Given the description of an element on the screen output the (x, y) to click on. 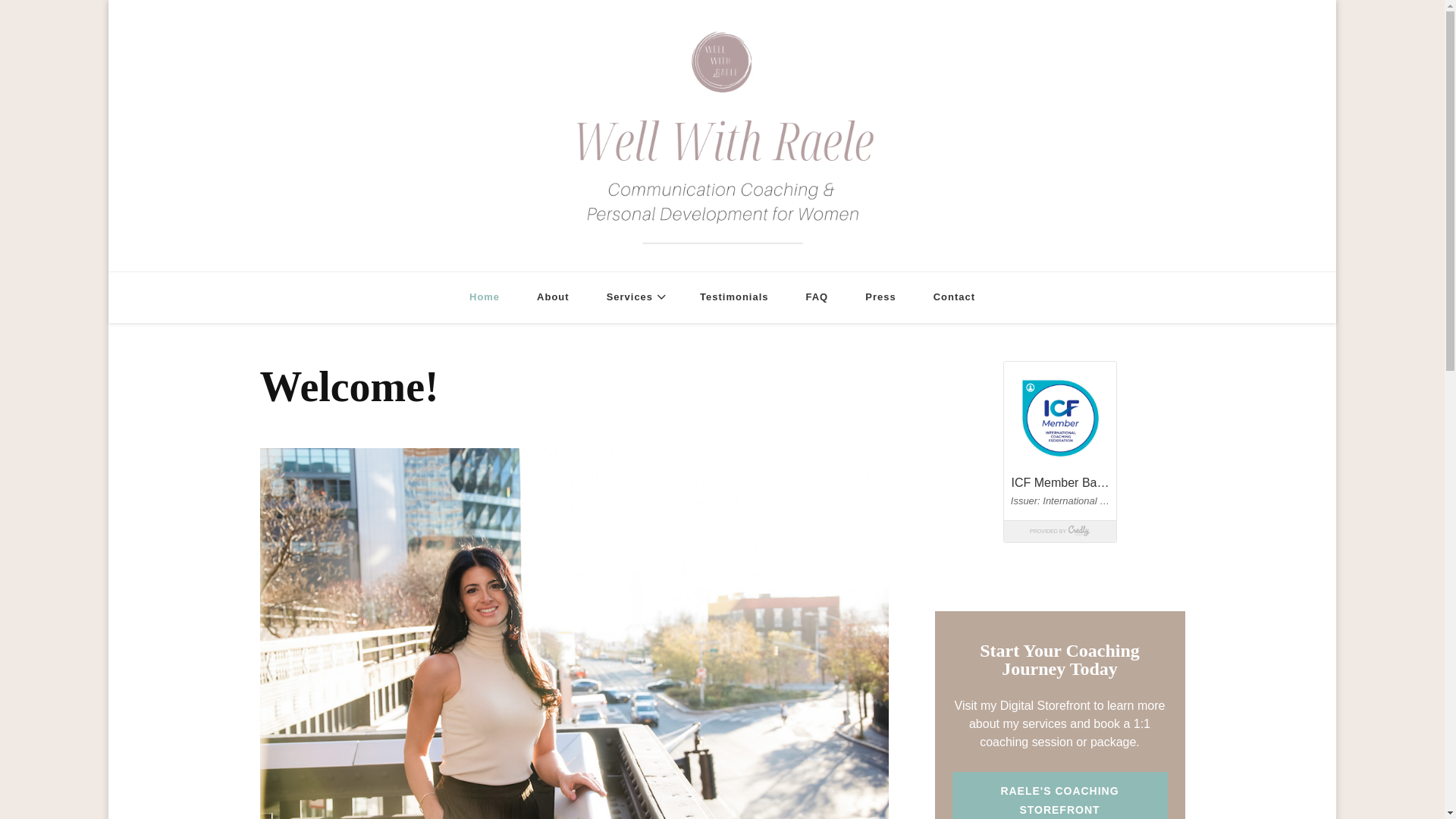
Testimonials (733, 296)
RAELE'S COACHING STOREFRONT (1059, 795)
Well With Raele (801, 274)
Press (880, 296)
Services (634, 296)
Contact (954, 296)
FAQ (817, 296)
Home (484, 296)
About (552, 296)
